Given the description of an element on the screen output the (x, y) to click on. 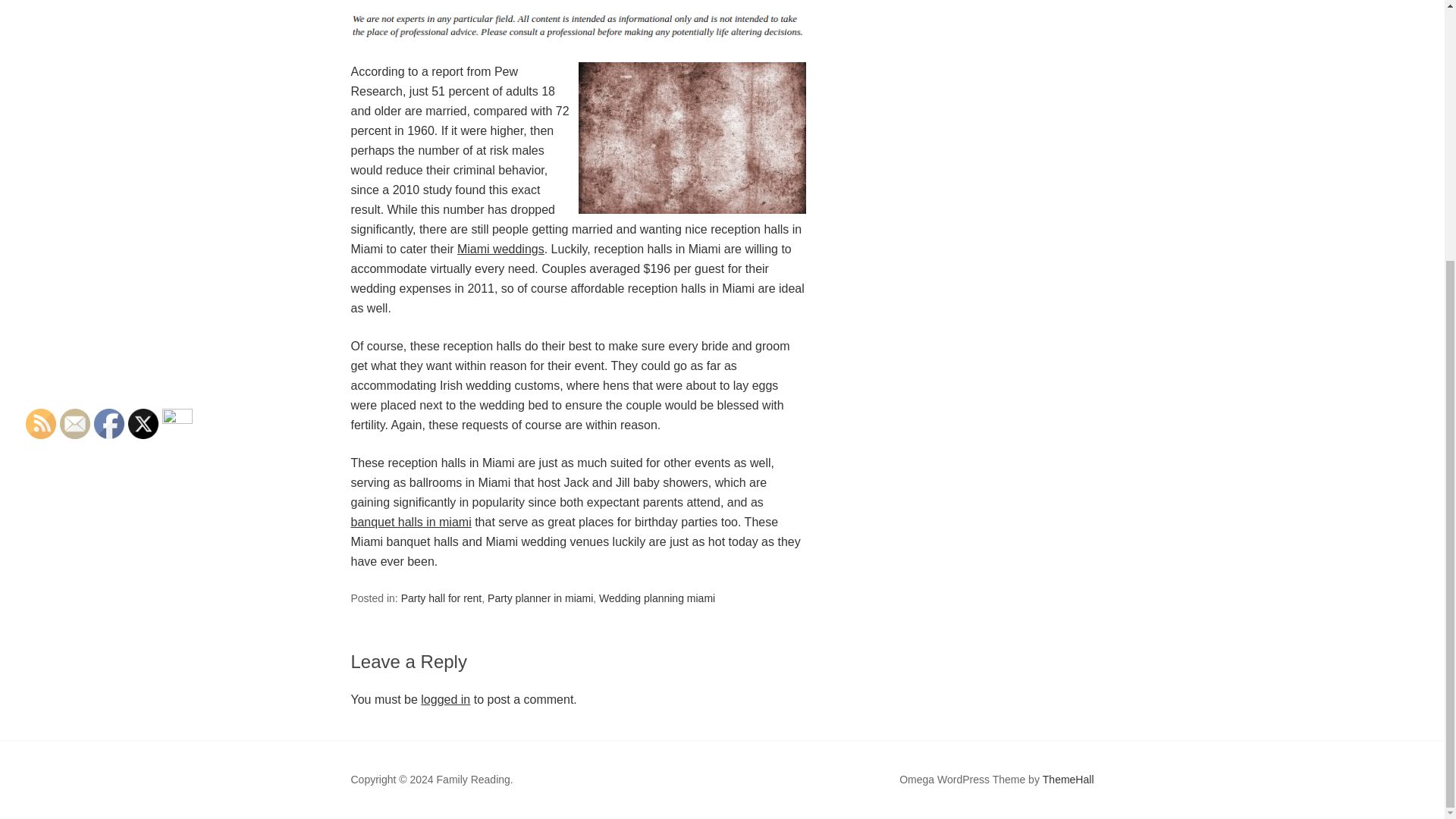
Facebook (108, 423)
Follow by Email (74, 423)
RSS (41, 423)
Miami weddings (500, 248)
Party planner in miami (539, 598)
ThemeHall (1068, 779)
Wedding planning miami (656, 598)
Twitter (143, 423)
logged in (445, 698)
ThemeHall (1068, 779)
